Given the description of an element on the screen output the (x, y) to click on. 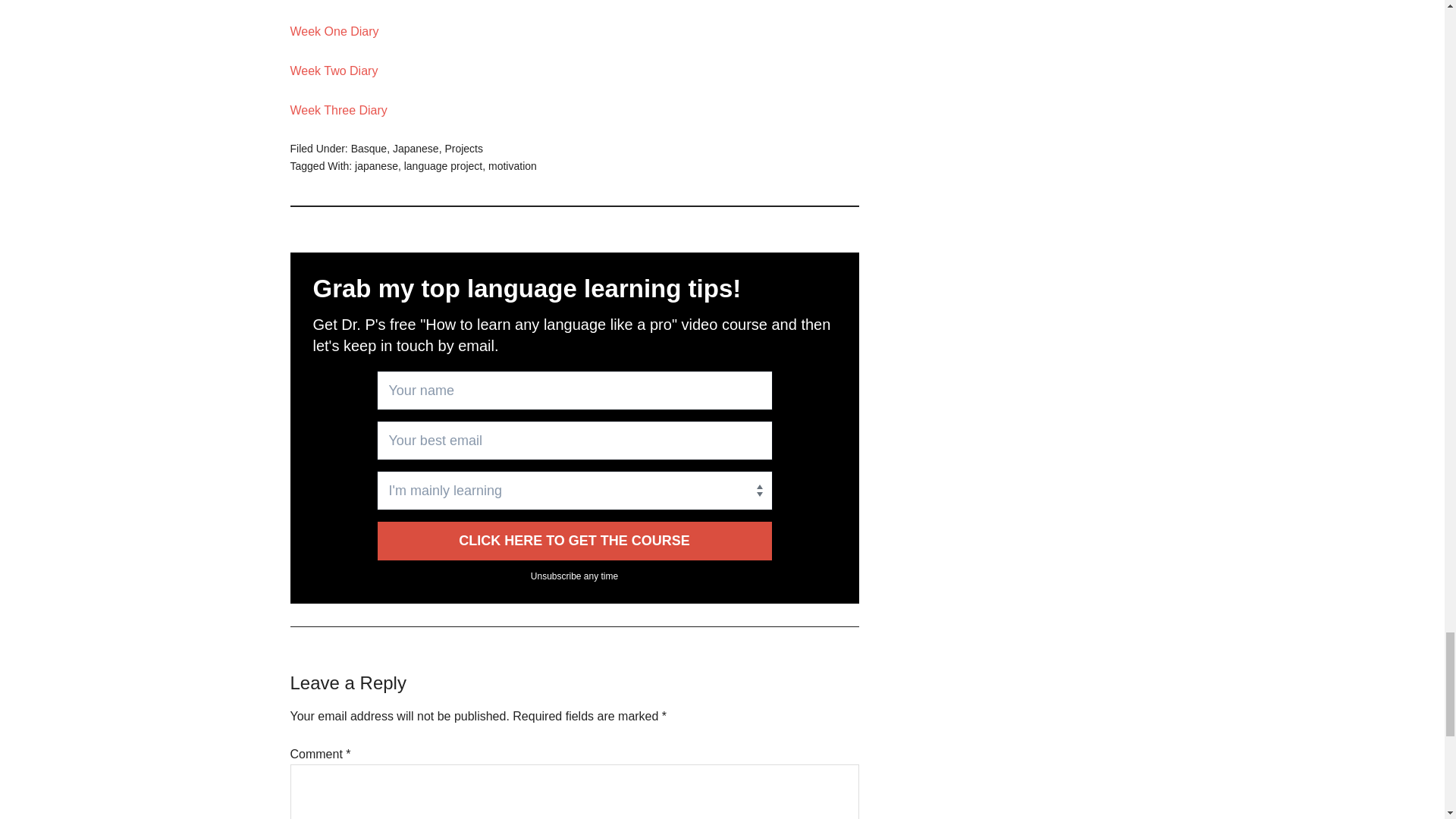
Week Three Diary (338, 110)
Japanese (416, 148)
CLICK HERE TO GET THE COURSE (574, 540)
motivation (512, 165)
language project (443, 165)
Week Two Diary (333, 70)
Basque (368, 148)
japanese (376, 165)
Week One Diary (333, 31)
Projects (463, 148)
